Given the description of an element on the screen output the (x, y) to click on. 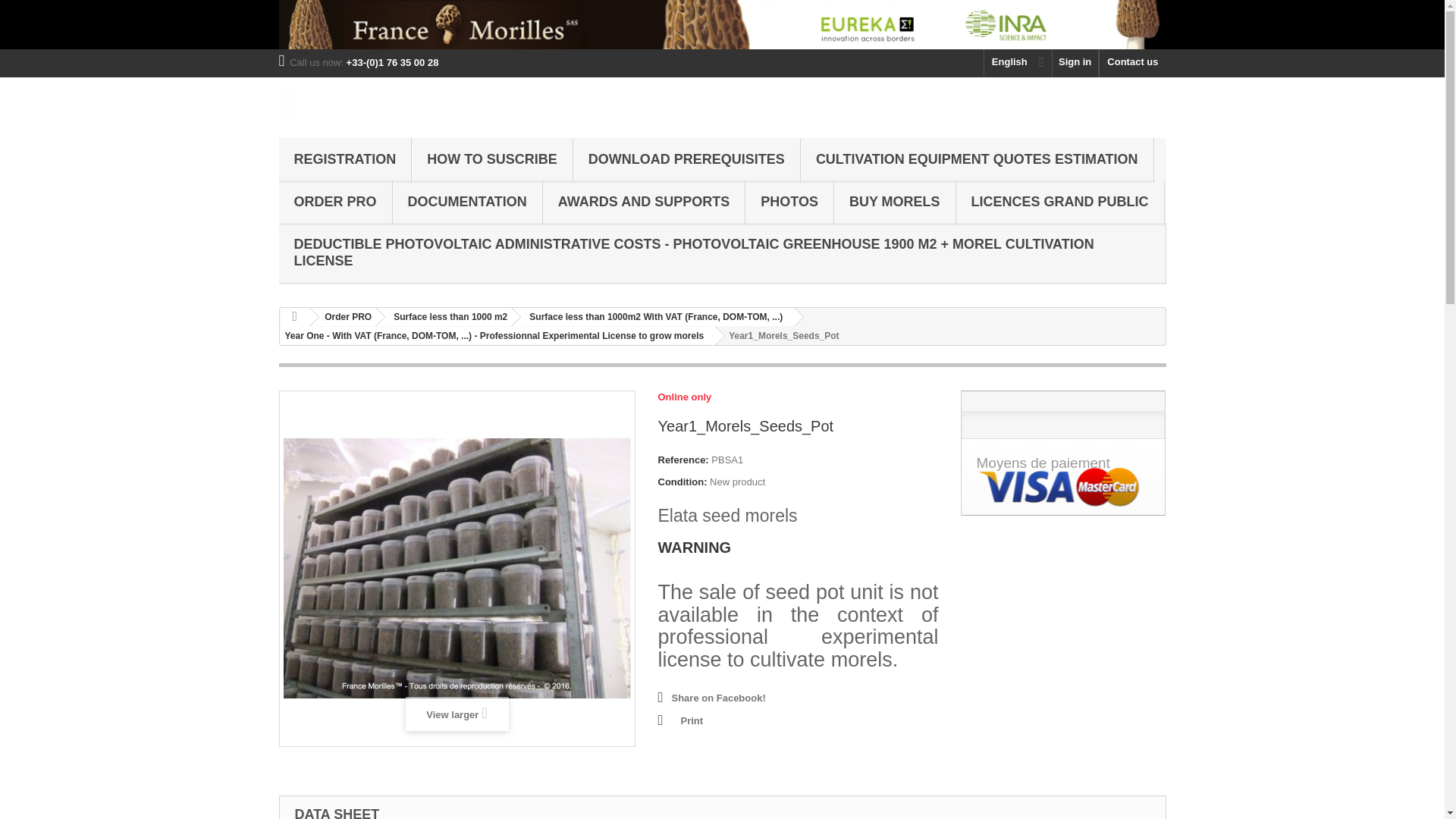
Order PRO (344, 316)
Surface less than 1000 m2 (447, 316)
Registration (345, 160)
Sign in (1074, 62)
DOCUMENTATION (467, 202)
LICENCES GRAND PUBLIC (1059, 202)
Contact us (1132, 62)
REGISTRATION (345, 160)
CULTIVATION EQUIPMENT QUOTES ESTIMATION (976, 160)
Contact us (1132, 62)
HOW TO SUSCRIBE (492, 160)
BUY MORELS (894, 202)
AWARDS AND SUPPORTS (643, 202)
Log in to your customer account (1074, 62)
PHOTOS (788, 202)
